Given the description of an element on the screen output the (x, y) to click on. 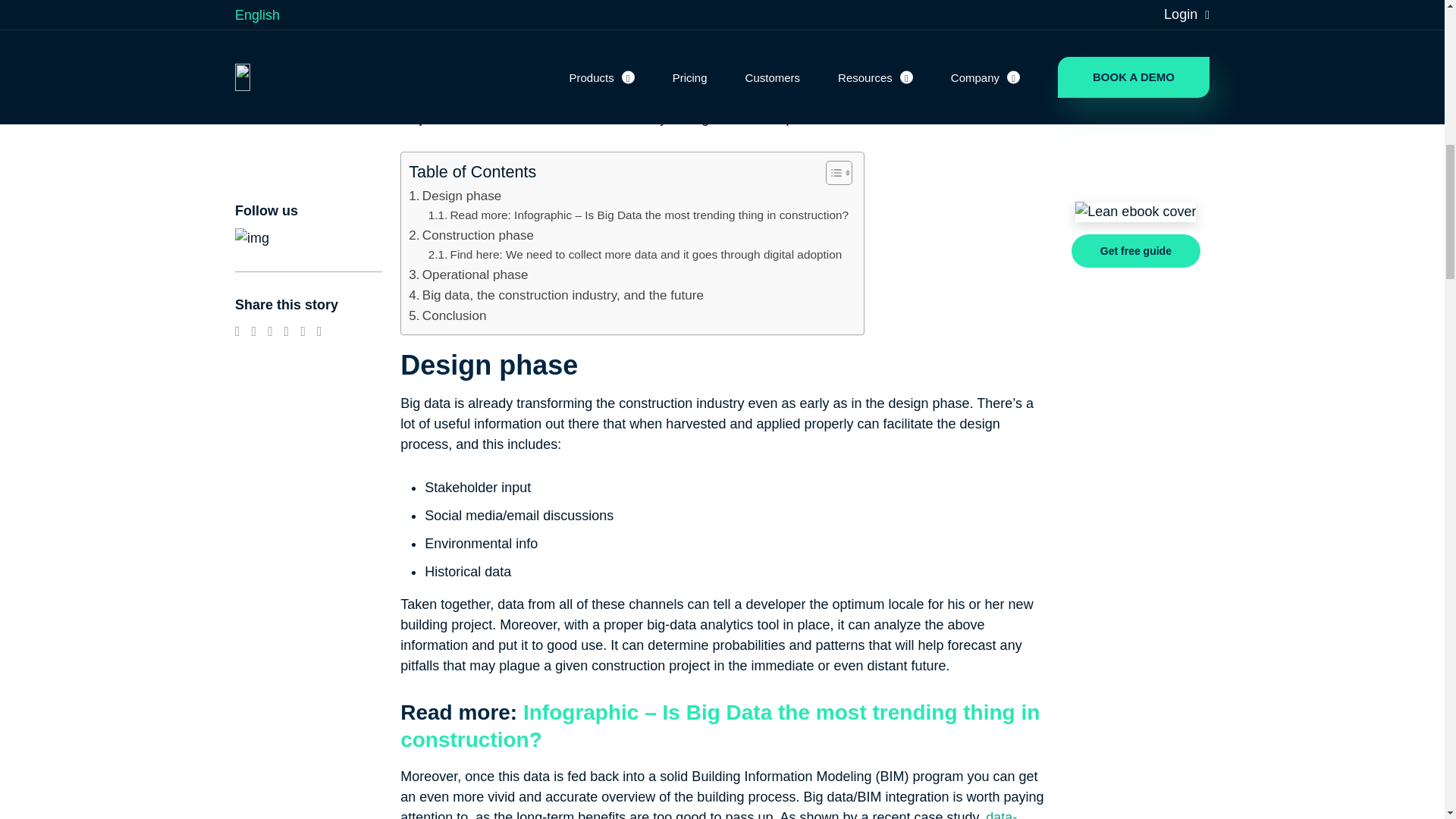
Construction phase (471, 235)
Conclusion (447, 315)
Operational phase (468, 274)
Design phase (454, 195)
Design phase (454, 195)
Big data, the construction industry, and the future (556, 295)
Big data, the construction industry, and the future (556, 295)
Operational phase (468, 274)
